Given the description of an element on the screen output the (x, y) to click on. 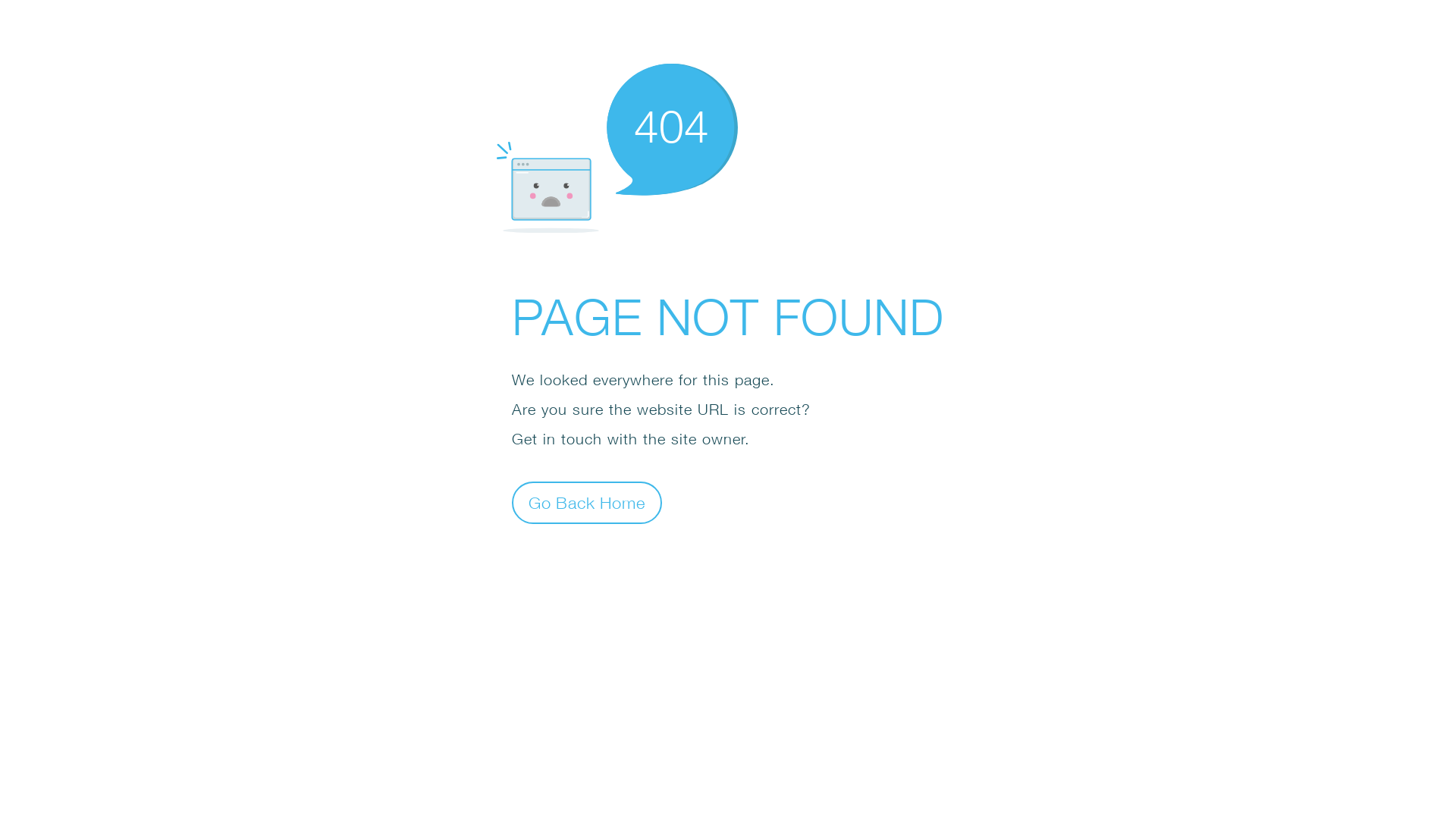
Go Back Home Element type: text (586, 502)
